Given the description of an element on the screen output the (x, y) to click on. 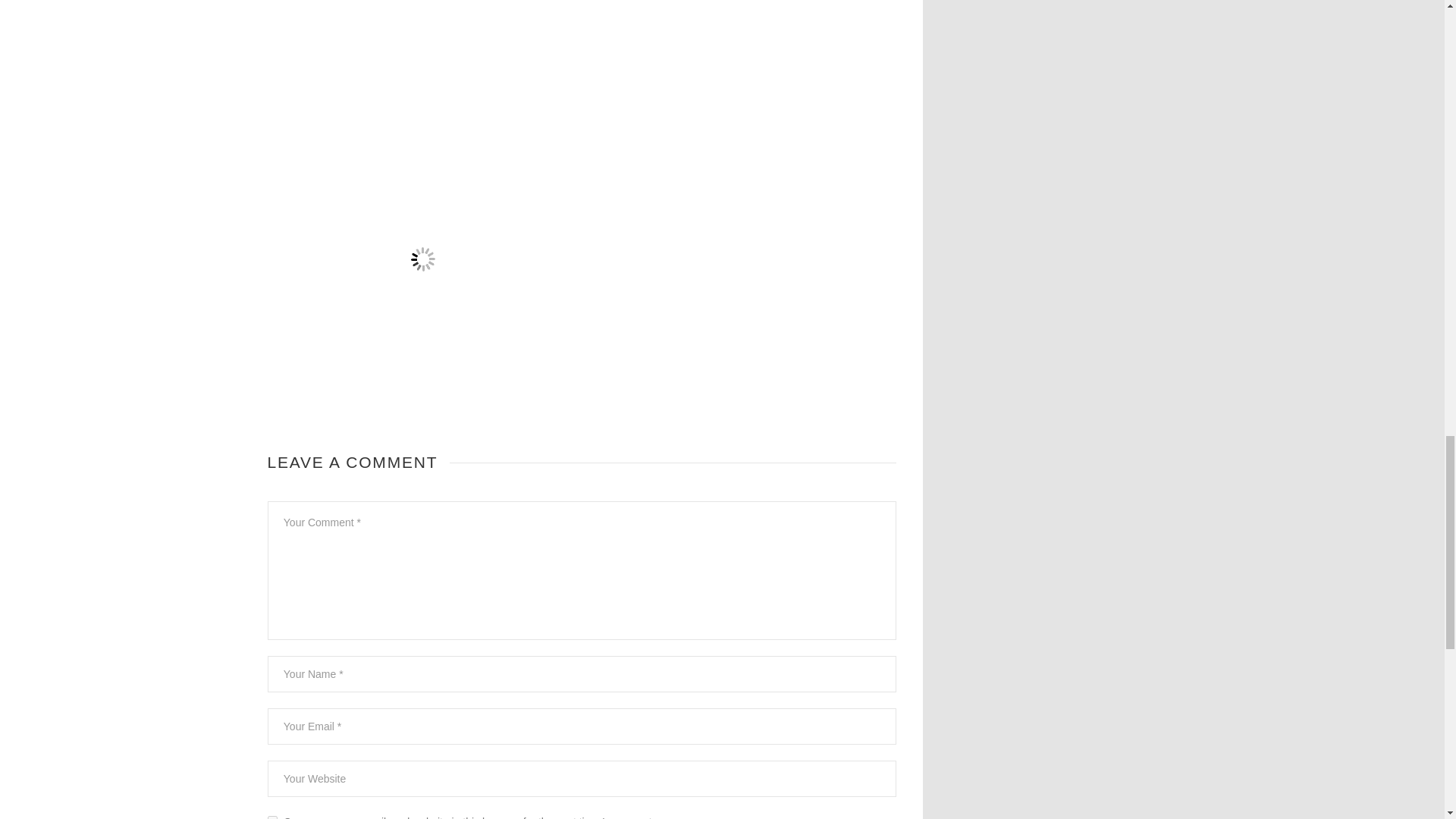
yes (271, 817)
